Given the description of an element on the screen output the (x, y) to click on. 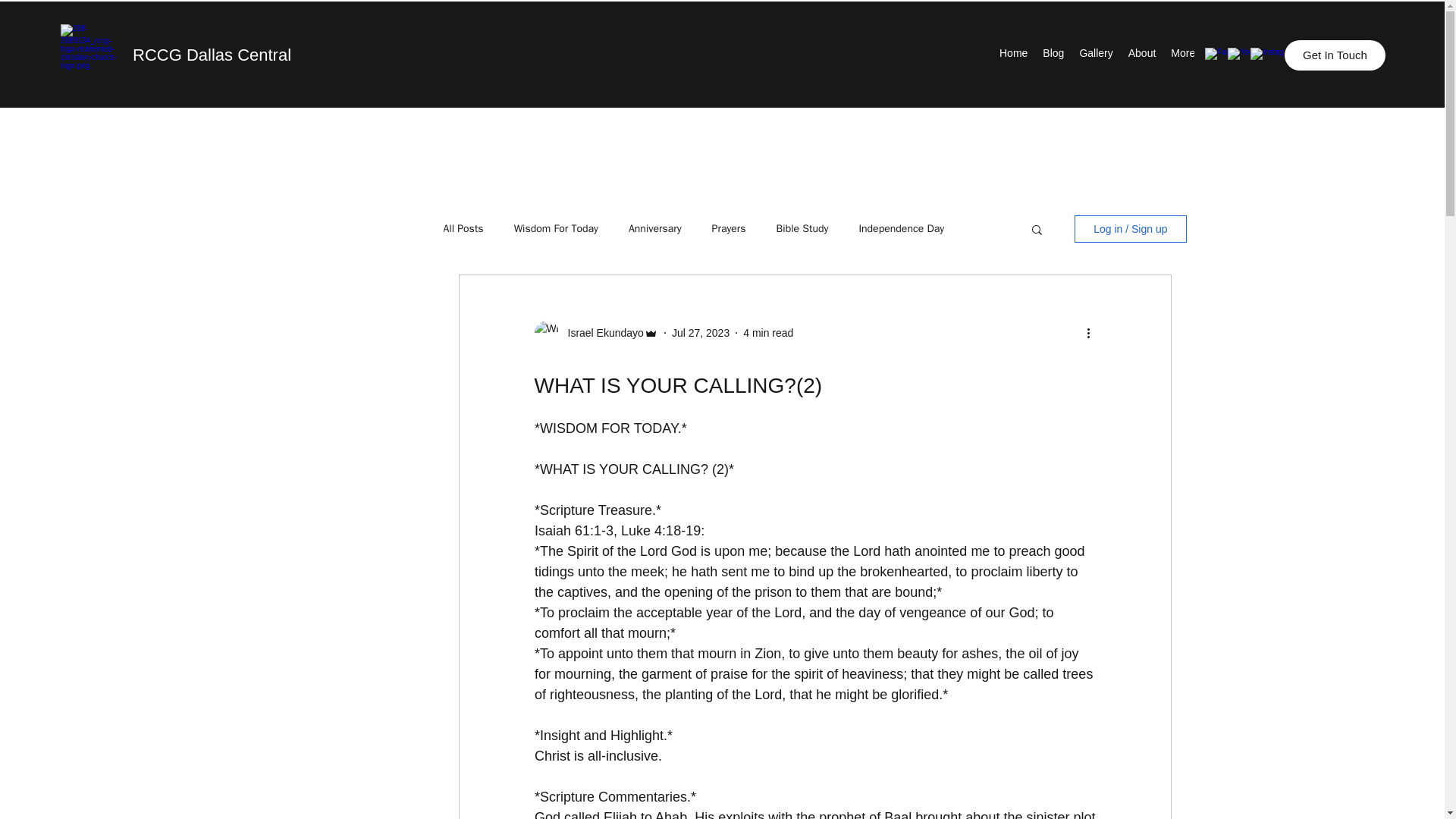
All Posts (462, 228)
Israel Ekundayo (600, 332)
RCCG Dallas Central (211, 54)
Jul 27, 2023 (700, 331)
About (1142, 55)
Home (1013, 55)
4 min read (767, 331)
Wisdom For Today (555, 228)
Gallery (1095, 55)
Bible Study (802, 228)
Blog (1053, 55)
Get In Touch (1335, 55)
Anniversary (654, 228)
Prayers (728, 228)
Independence Day (901, 228)
